Given the description of an element on the screen output the (x, y) to click on. 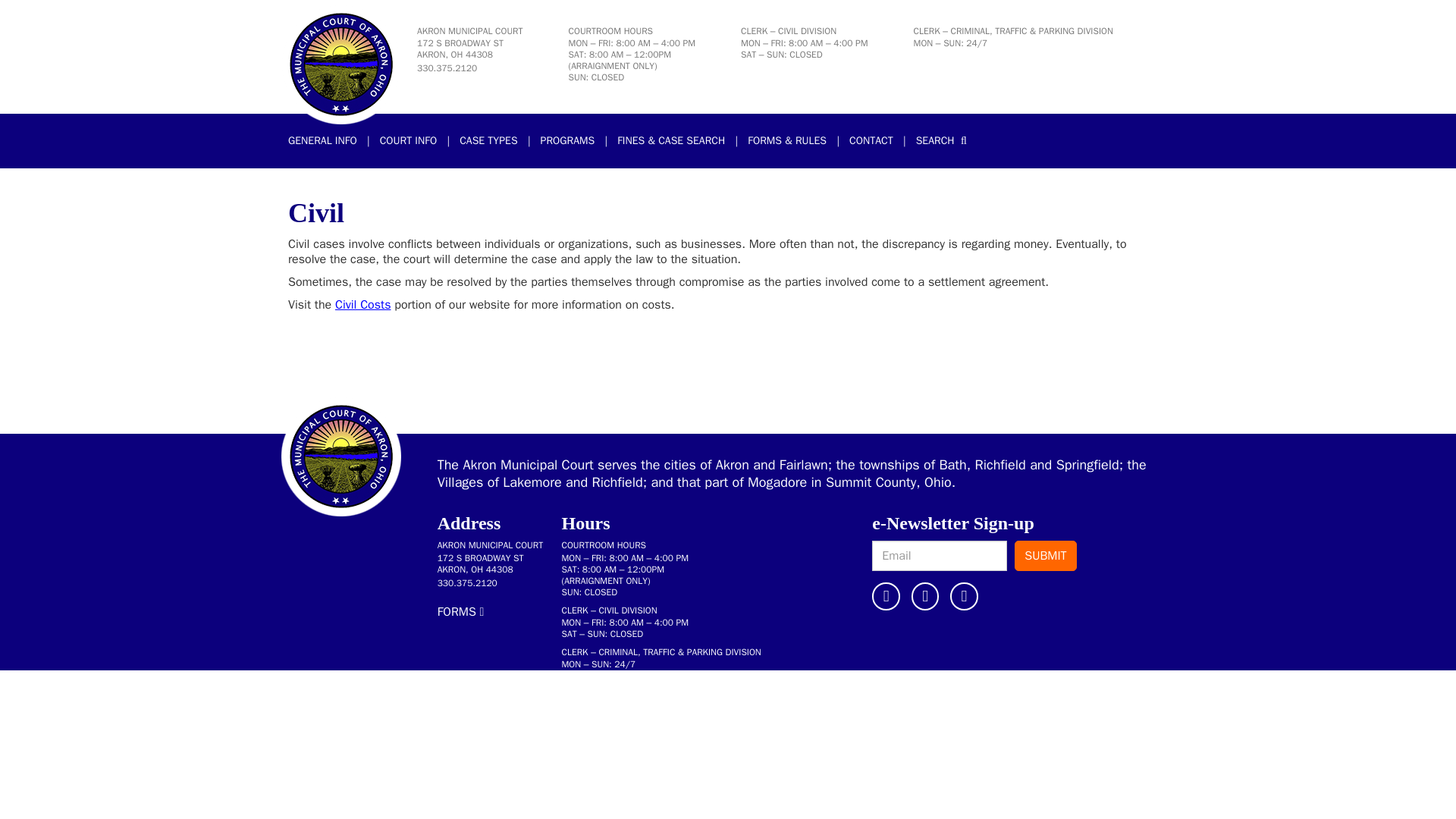
Civil Costs (362, 304)
CASE TYPES (459, 48)
COURT INFO (488, 140)
GENERAL INFO (408, 140)
330.375.2120 (328, 140)
PROGRAMS (446, 68)
